Given the description of an element on the screen output the (x, y) to click on. 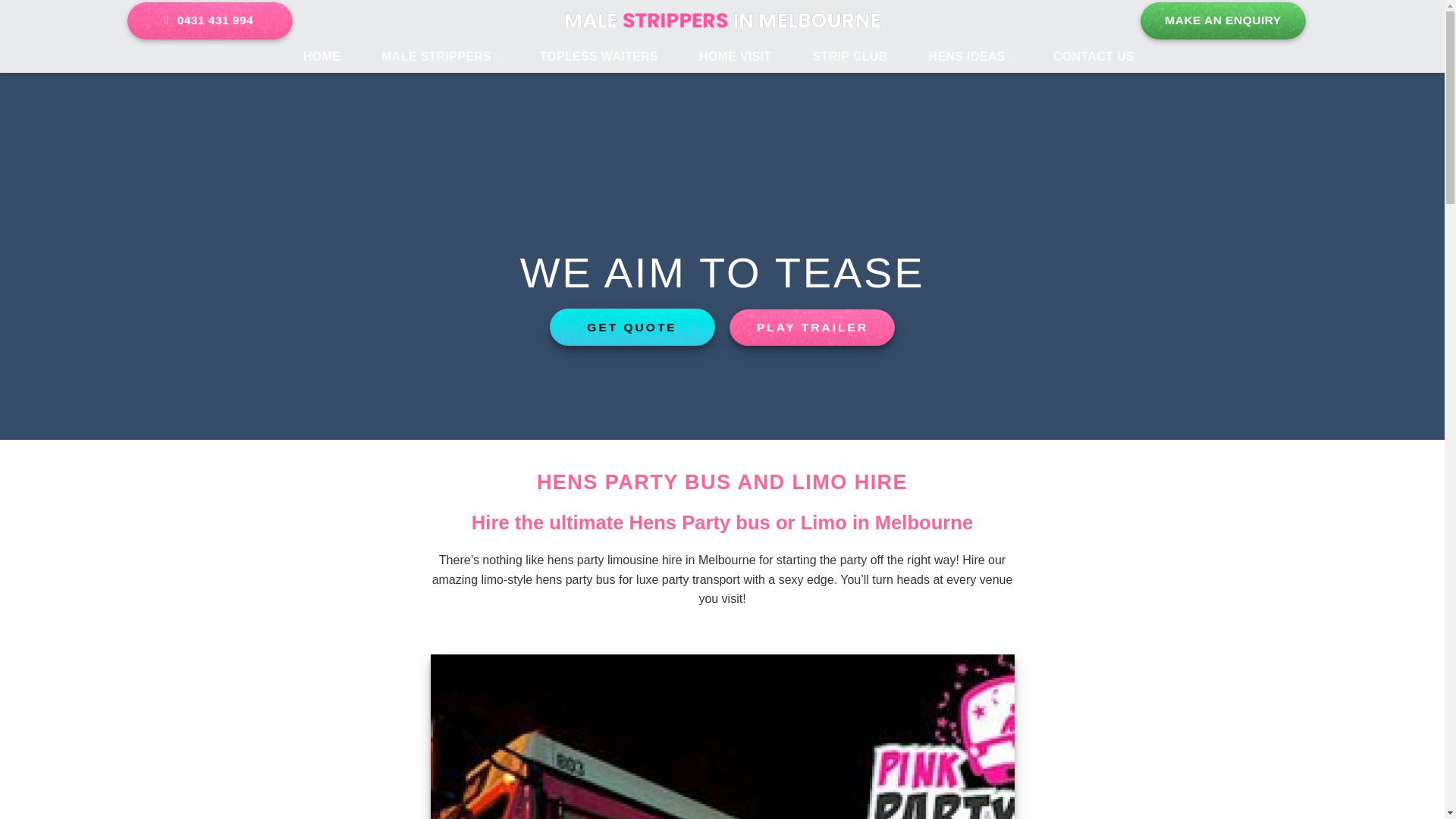
MALE STRIPPERS (439, 56)
HOME VISIT (735, 56)
CONTACT US (1096, 56)
MAKE AN ENQUIRY (1223, 19)
Male Strippers in Melbourne (721, 20)
HENS IDEAS (970, 56)
STRIP CLUB (850, 56)
0431 431 994 (210, 19)
HOME (321, 56)
Male Strip clubs in melbourne (850, 56)
Enquirer about our Male entertainment (1096, 56)
TOPLESS WAITERS (598, 56)
GET QUOTE (632, 326)
PLAY TRAILER (812, 326)
